Given the description of an element on the screen output the (x, y) to click on. 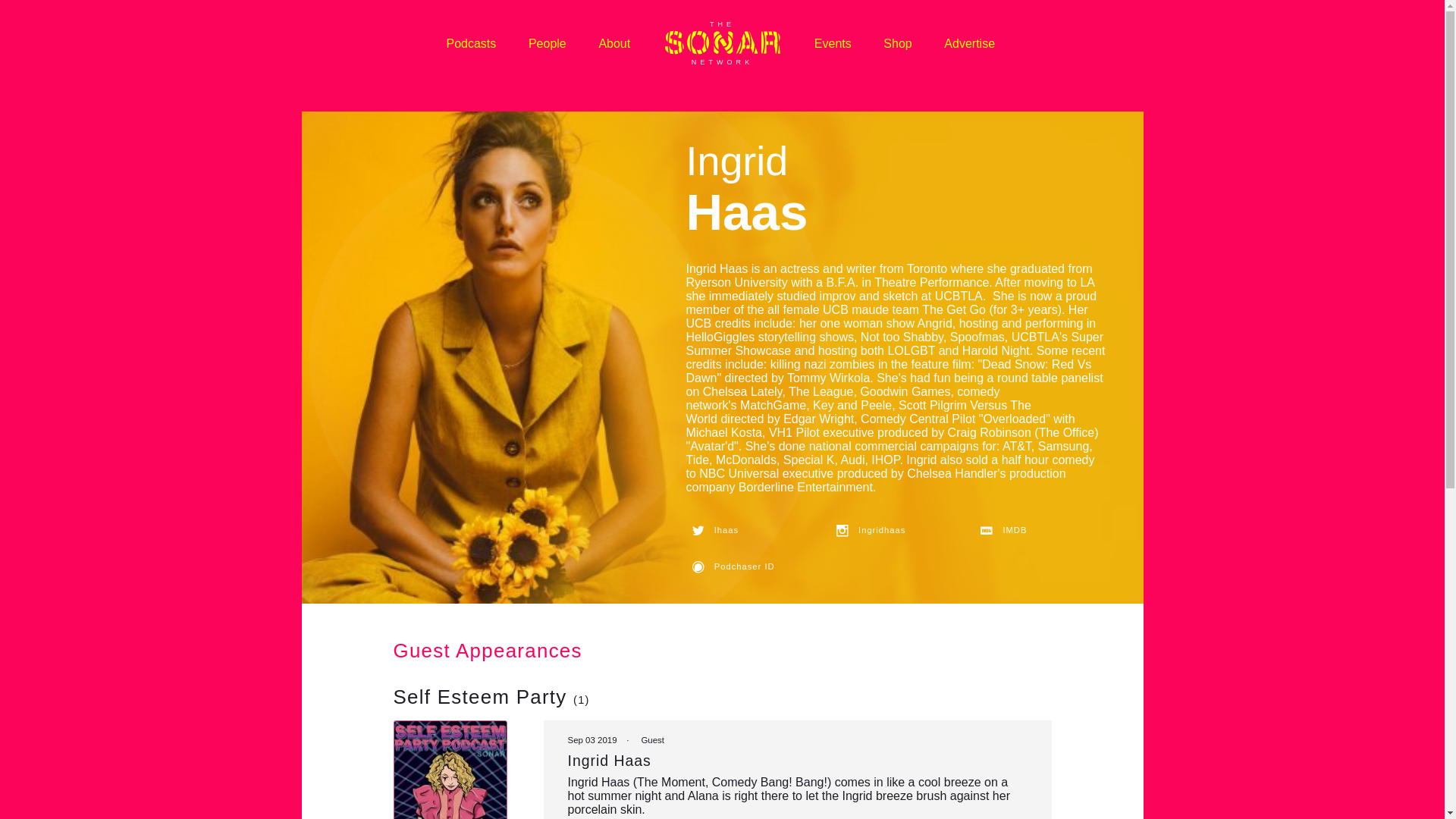
About (614, 42)
IMDB (1040, 530)
Podchaser ID (750, 567)
Ihaas (750, 530)
Shop (897, 42)
People (547, 42)
Events (832, 42)
Advertise (969, 42)
Ingridhaas (895, 530)
Podcasts (470, 42)
